Given the description of an element on the screen output the (x, y) to click on. 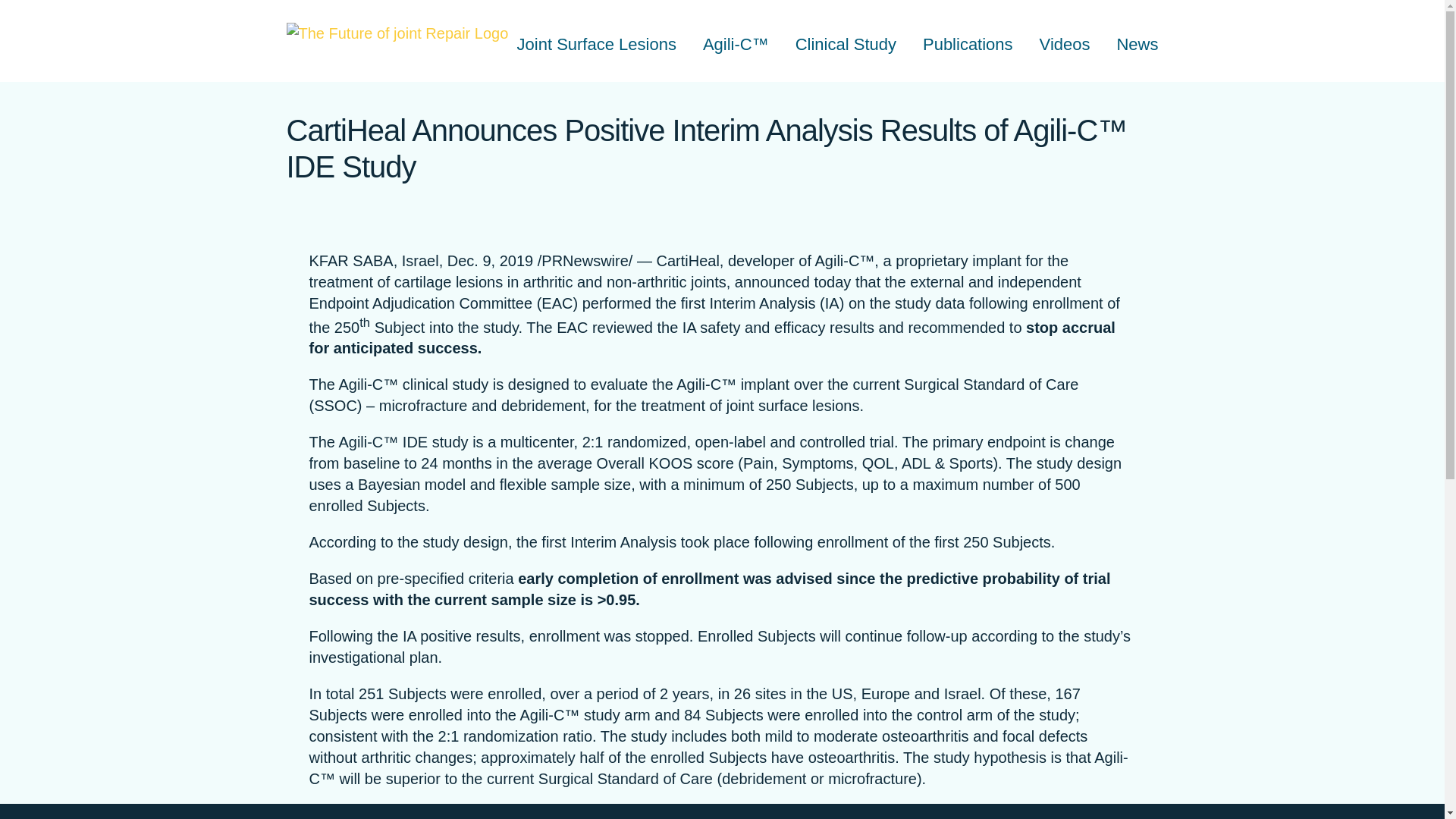
Videos (1064, 45)
Clinical Study (845, 45)
Publications (968, 45)
News (1136, 45)
Joint Surface Lesions (596, 45)
